Given the description of an element on the screen output the (x, y) to click on. 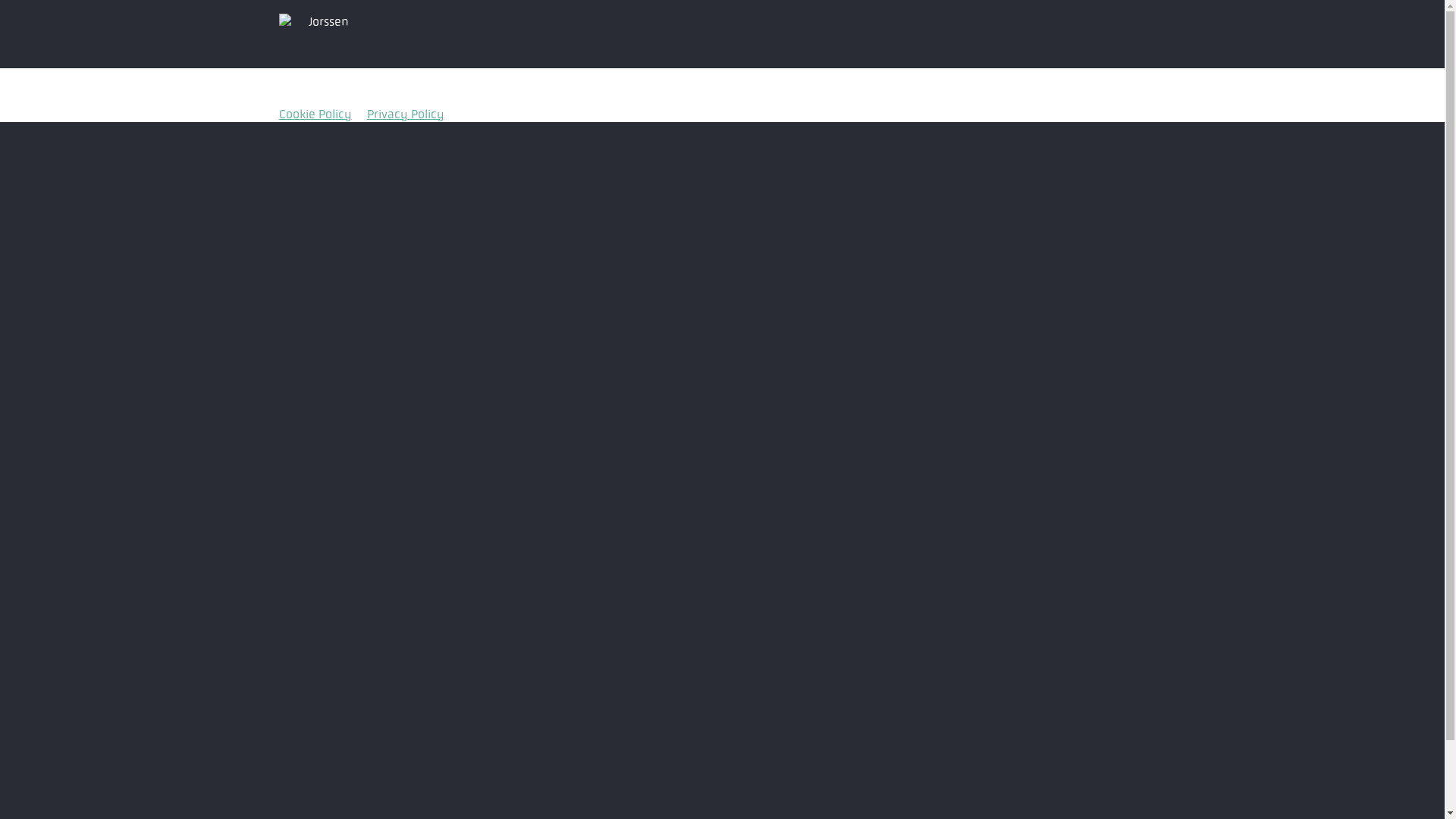
Cookie Policy Element type: text (315, 114)
Privacy Policy Element type: text (405, 114)
